Given the description of an element on the screen output the (x, y) to click on. 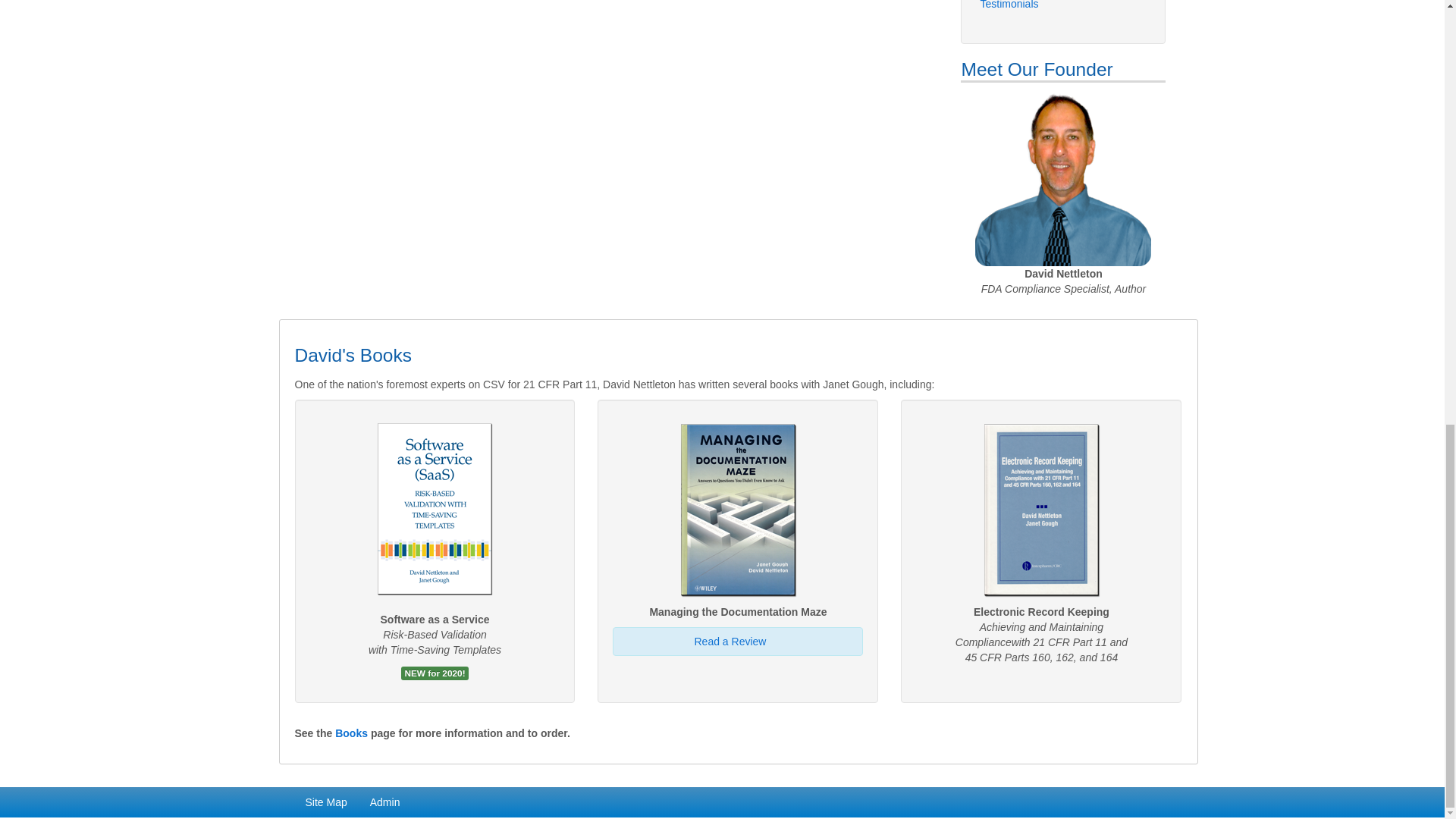
Books (351, 733)
Testimonials (1062, 6)
Read a Review (729, 641)
Site Map (326, 802)
David Nettleton (1063, 179)
Admin (385, 802)
